Given the description of an element on the screen output the (x, y) to click on. 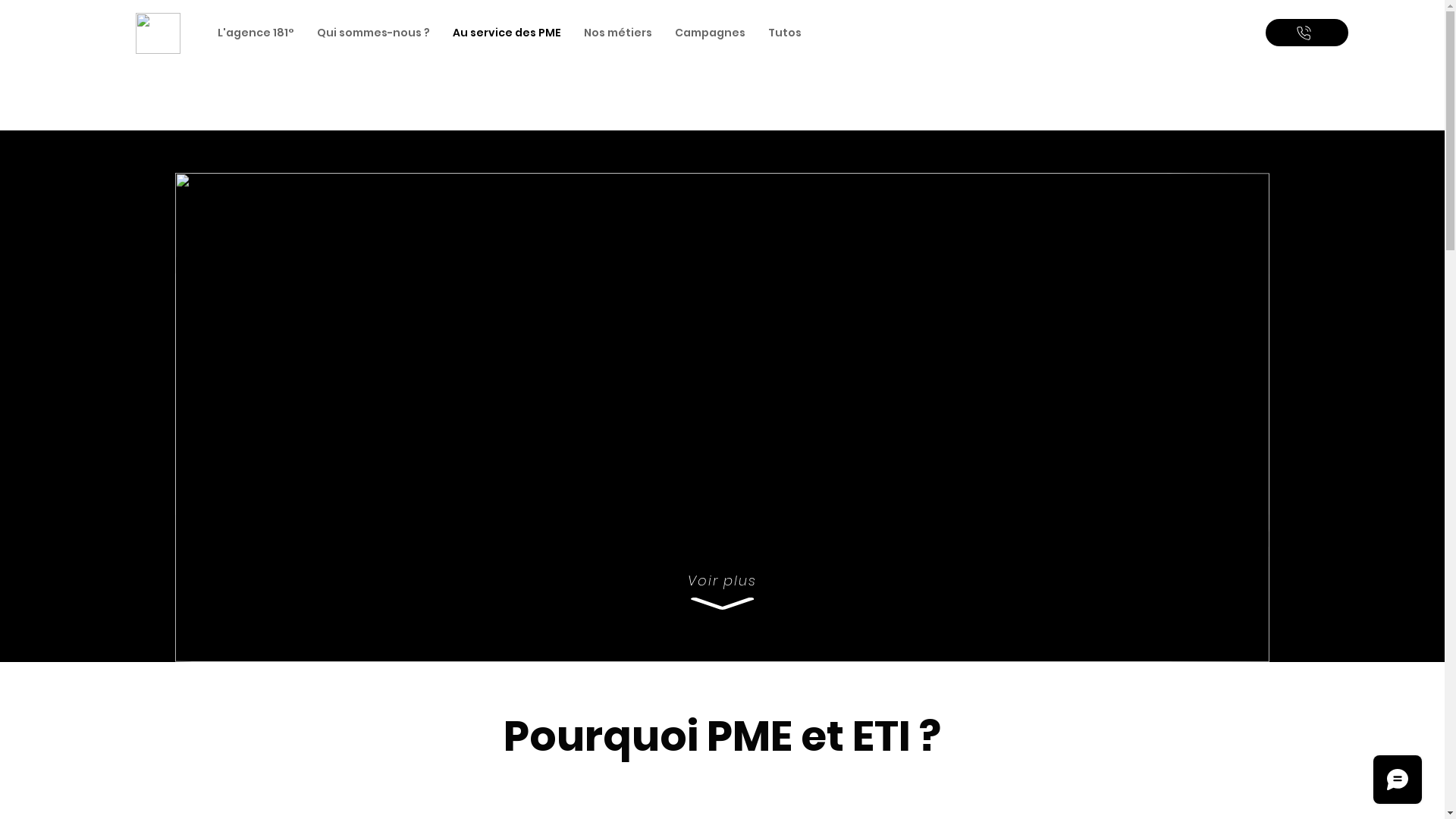
Campagnes Element type: text (709, 32)
Qui sommes-nous ? Element type: text (373, 32)
Au service des PME Element type: text (506, 32)
Tutos Element type: text (784, 32)
